Given the description of an element on the screen output the (x, y) to click on. 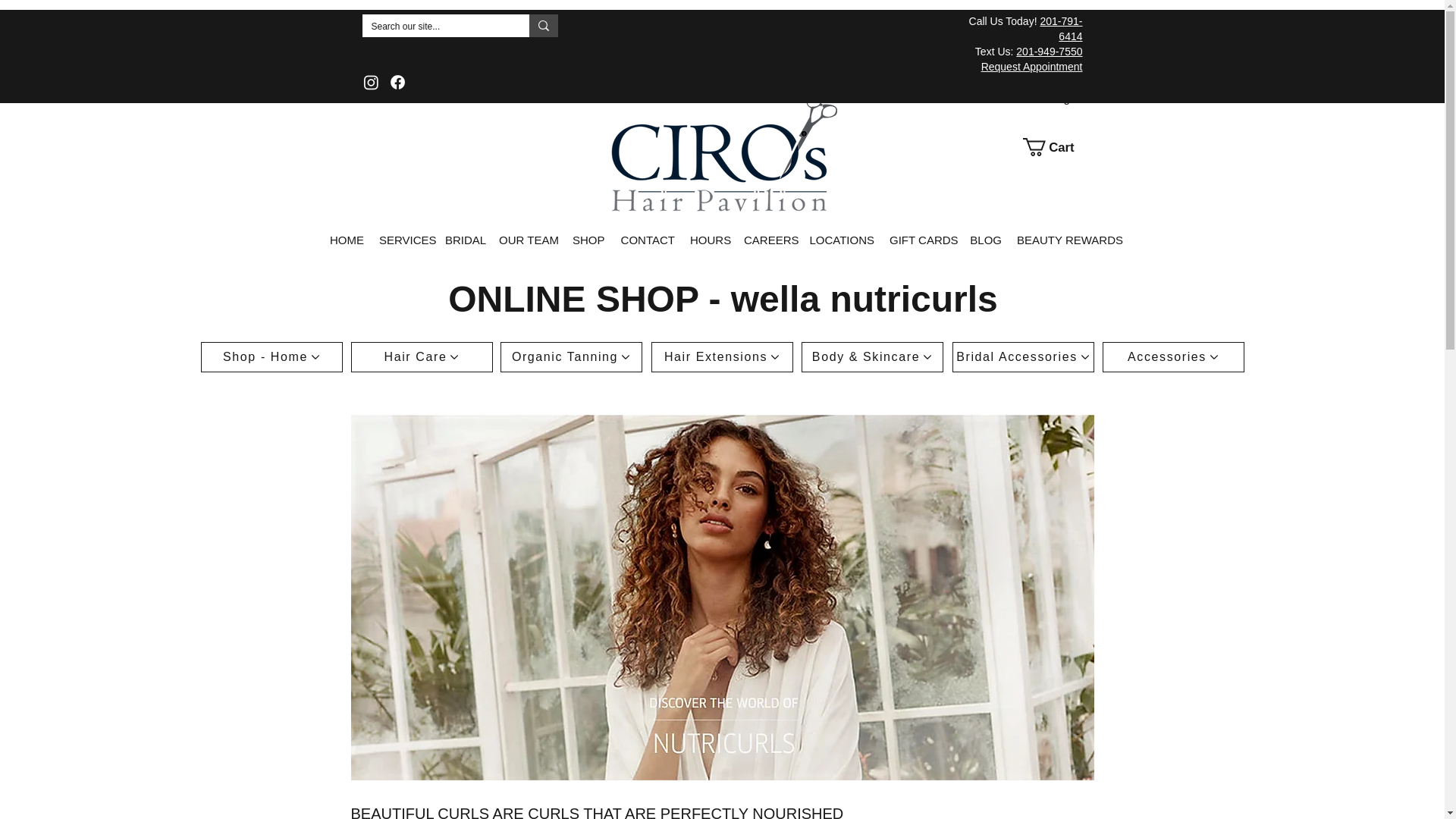
Cart (1056, 147)
GIFT CARDS (922, 240)
SHOP (587, 240)
BRIDAL (465, 240)
Log In (1067, 98)
OUR TEAM (528, 240)
CONTACT (646, 240)
CAREERS (768, 240)
LOCATIONS (841, 240)
HOURS (709, 240)
HOME (346, 240)
SERVICES (404, 240)
